Given the description of an element on the screen output the (x, y) to click on. 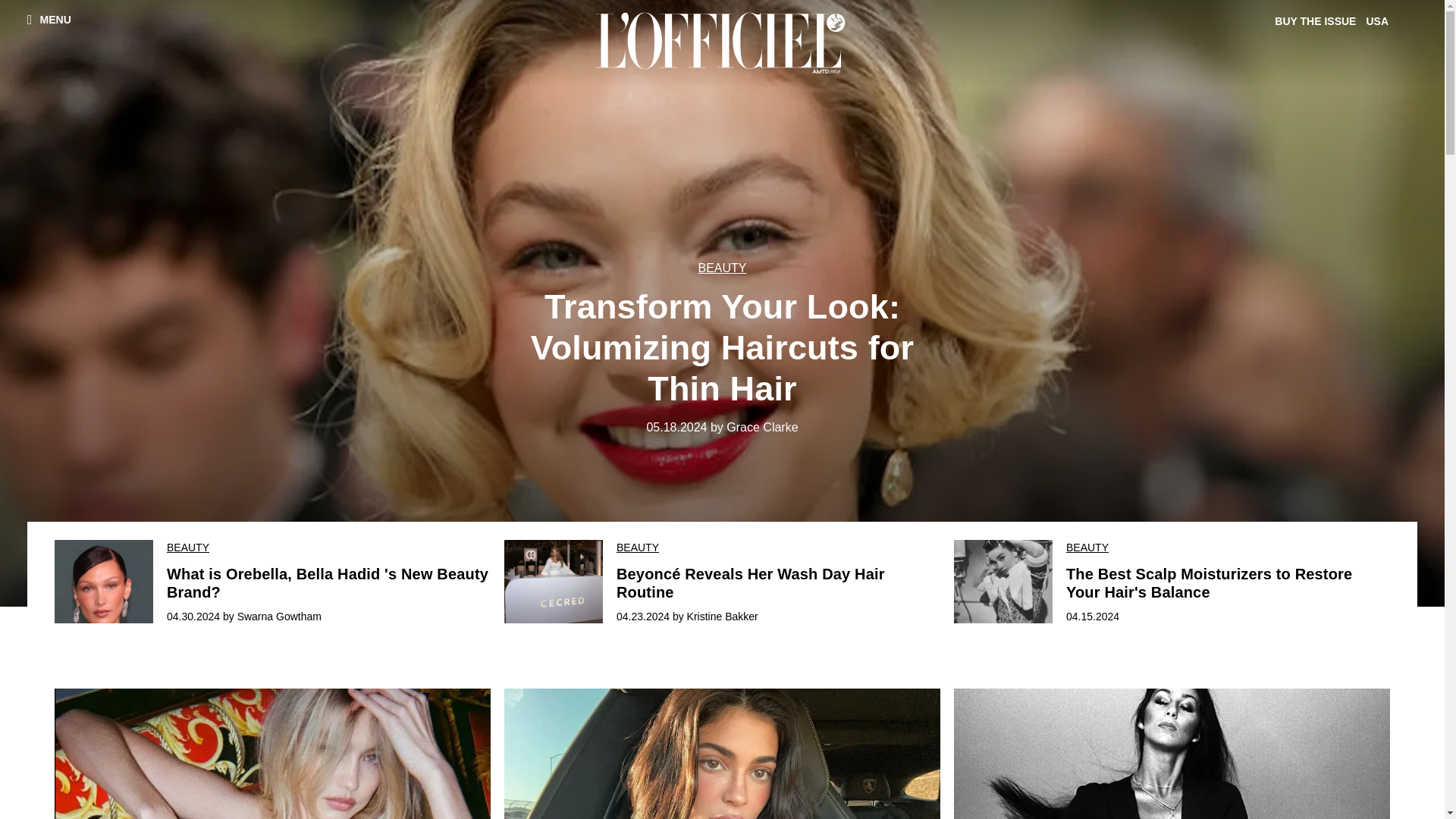
USA (1379, 21)
MENU (49, 19)
BUY THE ISSUE (1318, 21)
L'Officiel usa (721, 42)
L'Officiel usa (722, 42)
